Given the description of an element on the screen output the (x, y) to click on. 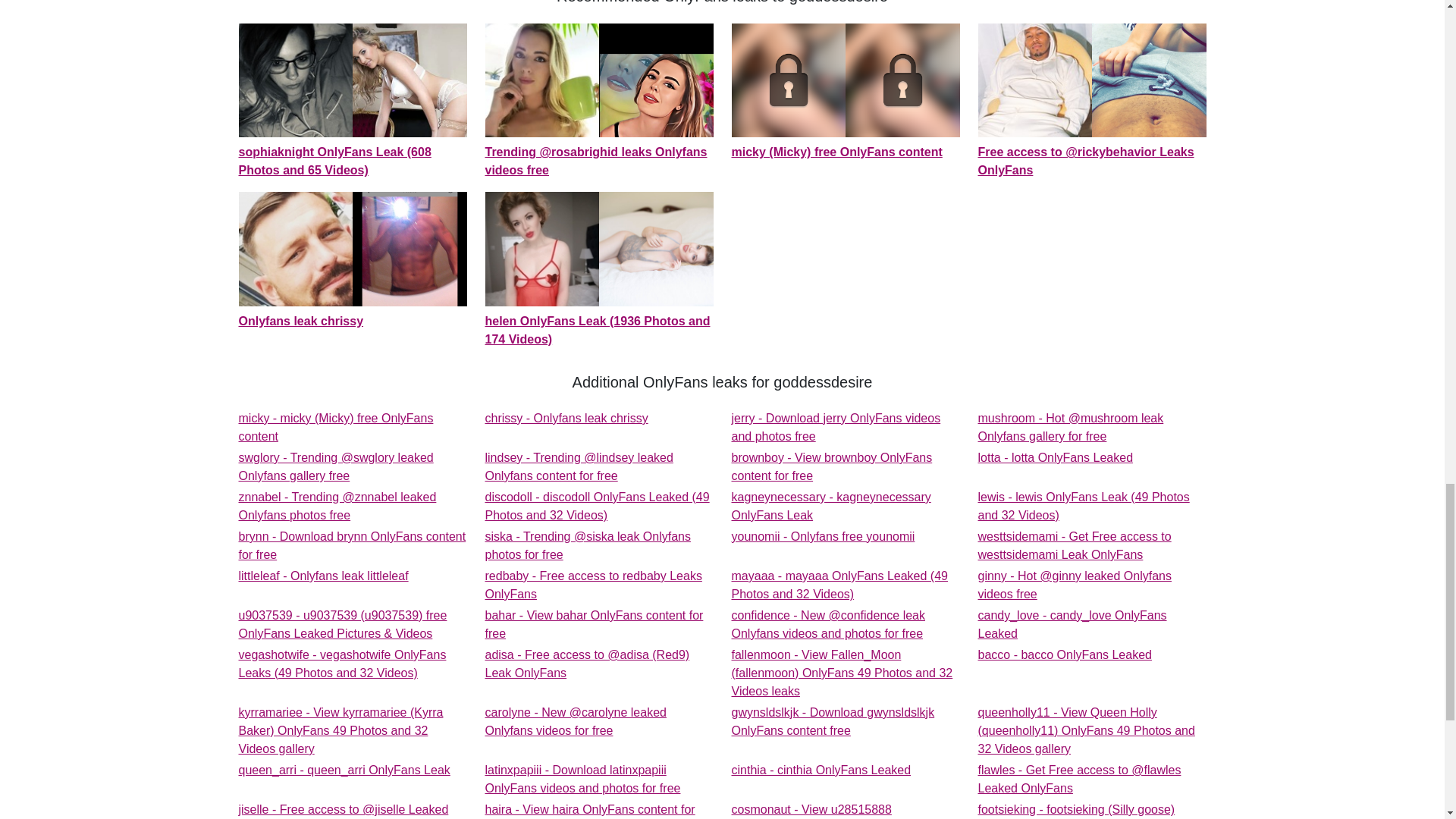
chrissy - Onlyfans leak chrissy (830, 505)
brownboy - View brownboy OnlyFans content for free (565, 418)
jerry - Download jerry OnlyFans videos and photos free (830, 466)
Onlyfans leak chrissy (1056, 457)
lotta - lotta OnlyFans Leaked (835, 427)
kagneynecessary - kagneynecessary OnlyFans Leak (835, 427)
